Given the description of an element on the screen output the (x, y) to click on. 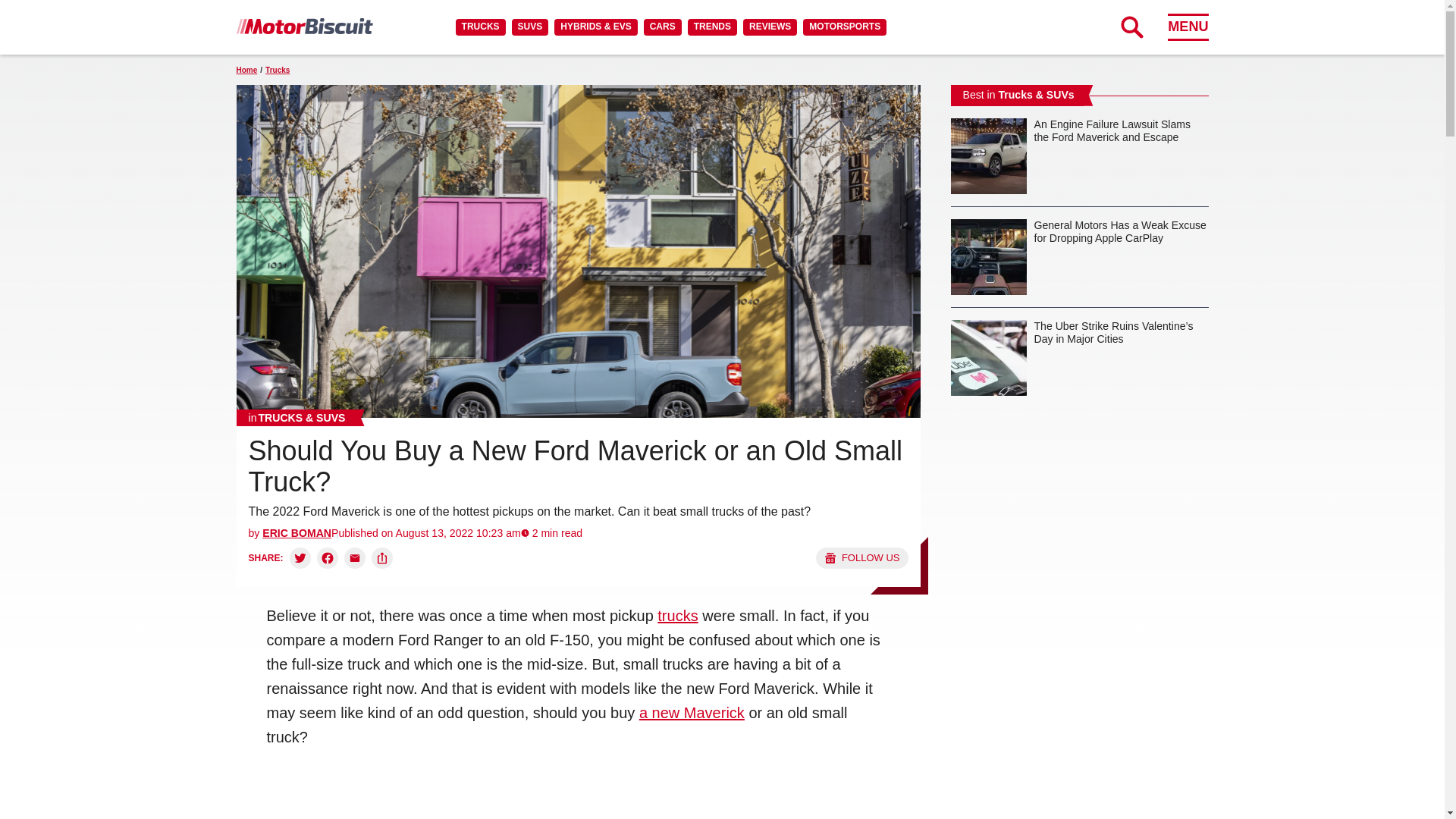
Expand Search (1131, 26)
Copy link and share:  (382, 557)
MOTORSPORTS (844, 26)
SUVS (530, 26)
TRENDS (711, 26)
MENU (1187, 26)
MotorBiscuit (303, 26)
TRUCKS (480, 26)
CARS (662, 26)
Follow us on Google News (861, 557)
